Given the description of an element on the screen output the (x, y) to click on. 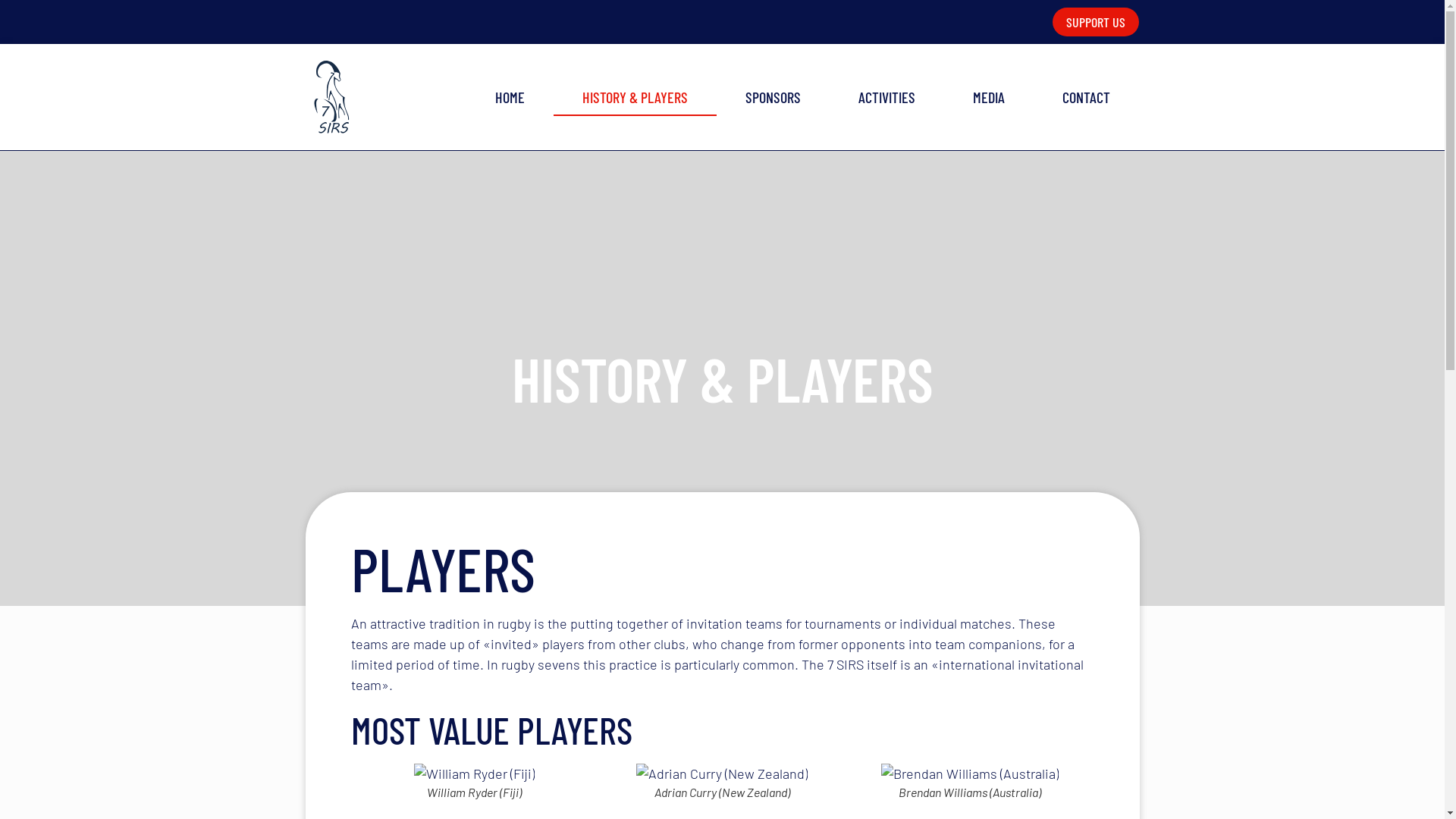
ACTIVITIES Element type: text (886, 97)
HOME Element type: text (509, 97)
MEDIA Element type: text (988, 97)
SUPPORT US Element type: text (1095, 21)
SPONSORS Element type: text (772, 97)
HISTORY & PLAYERS Element type: text (634, 97)
CONTACT Element type: text (1086, 97)
